Given the description of an element on the screen output the (x, y) to click on. 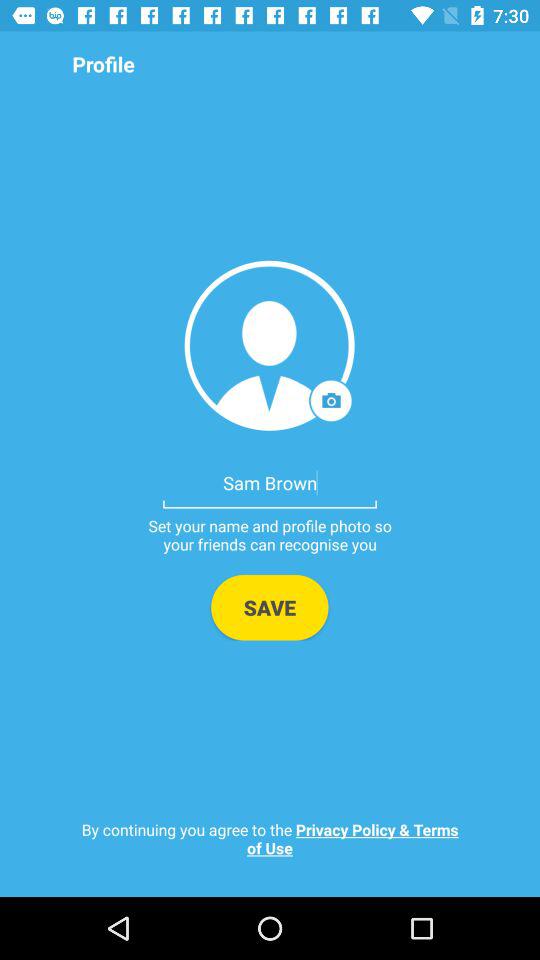
turn on the save icon (269, 607)
